Given the description of an element on the screen output the (x, y) to click on. 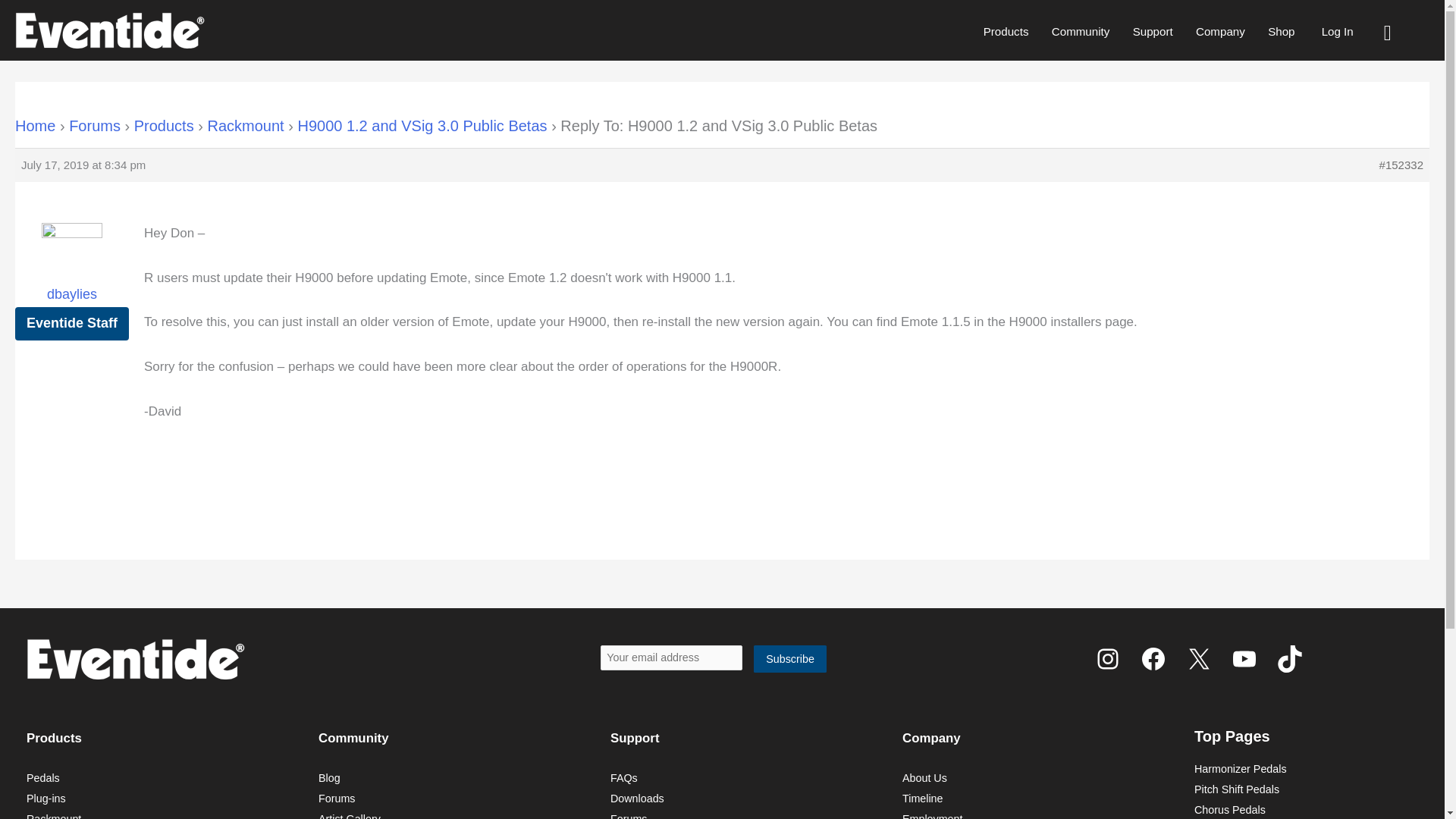
Products (1006, 31)
Company (1220, 31)
View dbaylies's profile (71, 273)
Log In (1337, 31)
Subscribe (790, 659)
Support (1152, 31)
Shop (1281, 31)
Community (1081, 31)
